Given the description of an element on the screen output the (x, y) to click on. 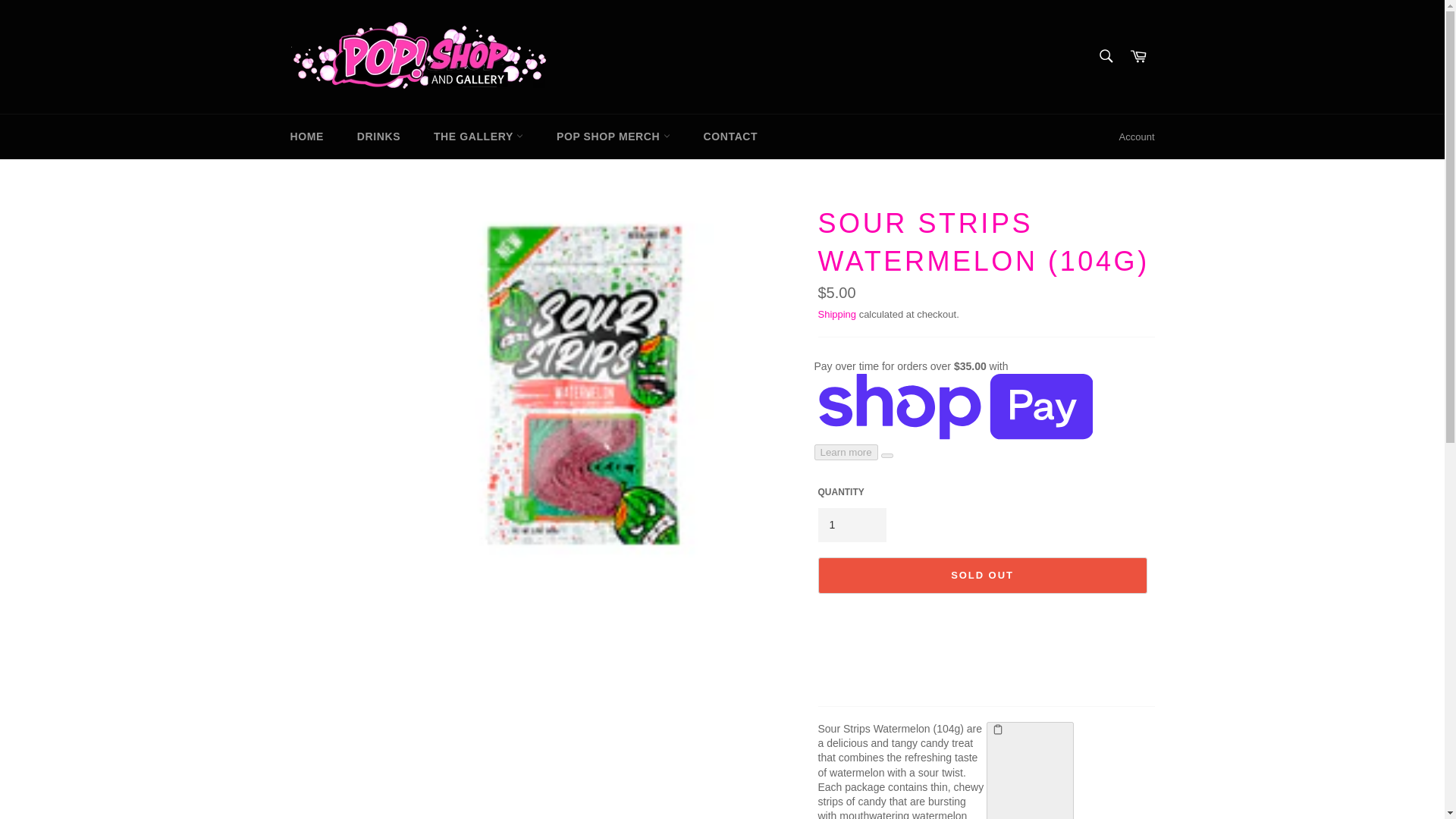
CONTACT (730, 136)
Account (1136, 136)
POP SHOP MERCH (613, 136)
1 (850, 524)
Search (1104, 55)
THE GALLERY (478, 136)
HOME (306, 136)
DRINKS (378, 136)
Cart (1138, 56)
